Given the description of an element on the screen output the (x, y) to click on. 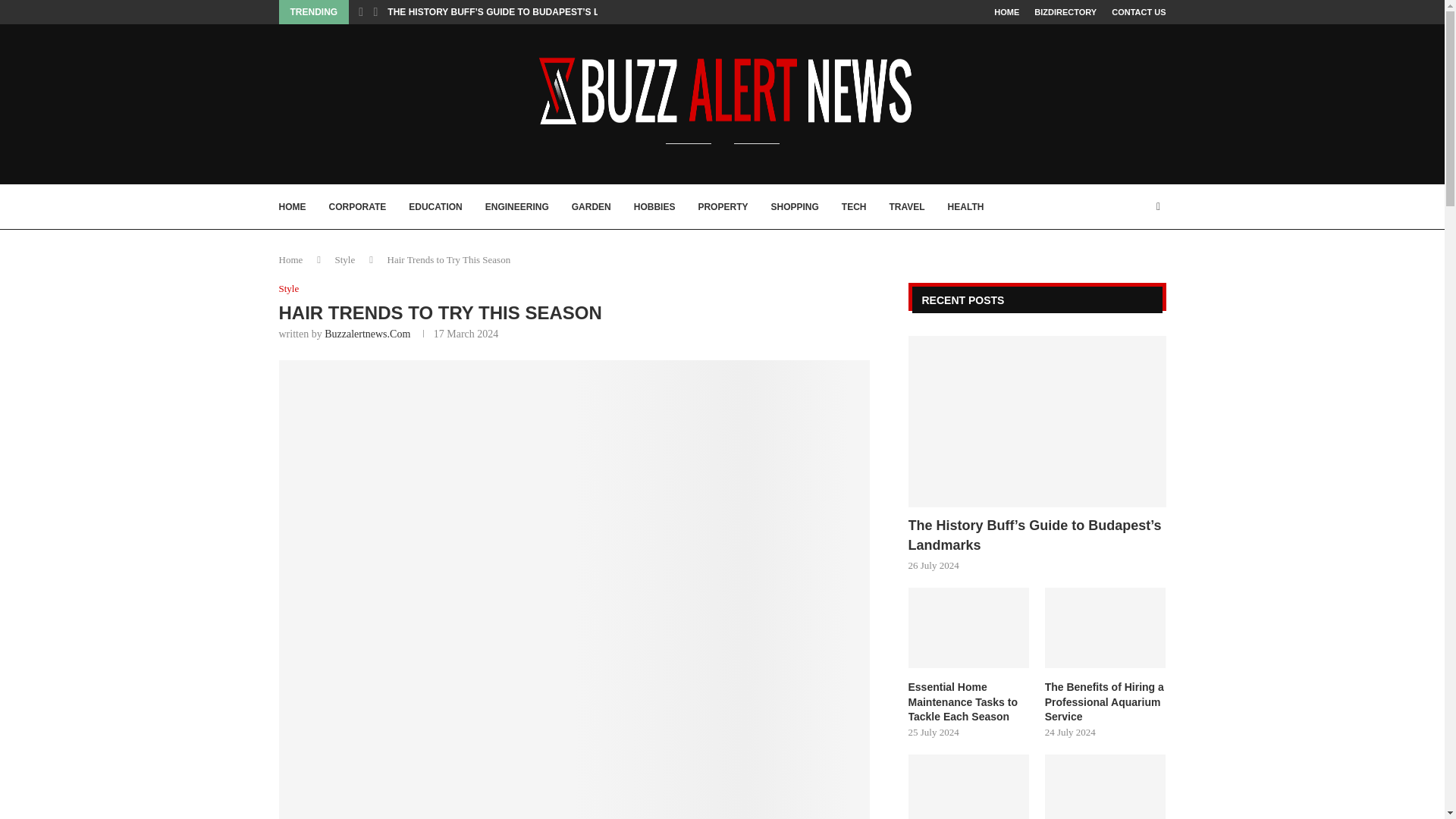
CONTACT US (1139, 12)
HOBBIES (654, 207)
EDUCATION (435, 207)
SHOPPING (794, 207)
CORPORATE (358, 207)
GARDEN (591, 207)
BIZDIRECTORY (1064, 12)
Style (344, 259)
PROPERTY (722, 207)
Style (289, 288)
HOME (1006, 12)
Buzzalertnews.Com (367, 333)
Home (290, 259)
ENGINEERING (516, 207)
